Given the description of an element on the screen output the (x, y) to click on. 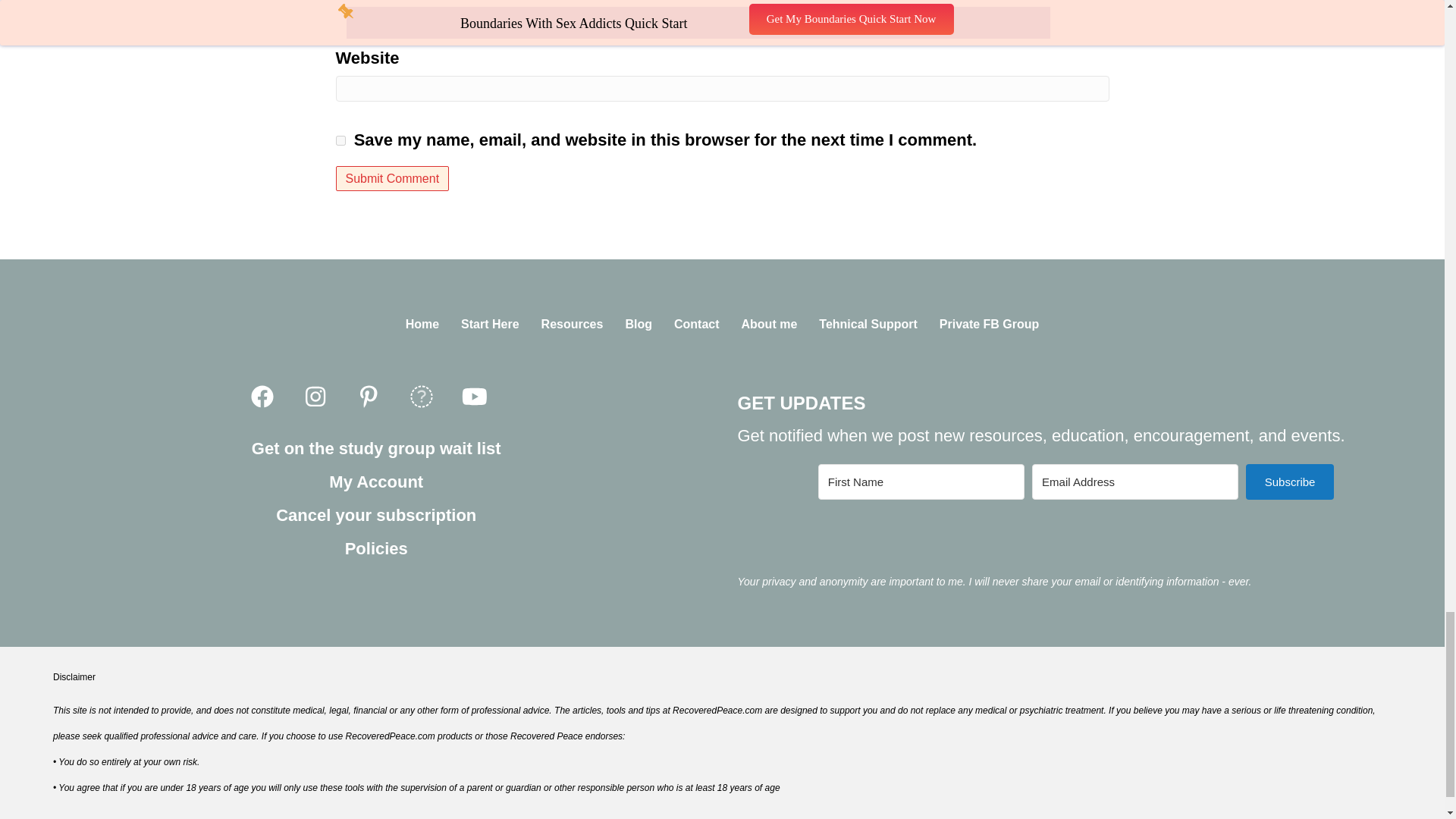
YouTube (474, 397)
Submit Comment (391, 178)
Facebook (262, 397)
Tehnical Support (867, 324)
Resources (572, 324)
Home (421, 324)
Pinterest (368, 397)
About me (769, 324)
Twitter (421, 397)
Instagram (314, 397)
Submit Comment (391, 178)
yes (339, 140)
Start Here (489, 324)
Blog (638, 324)
Contact (696, 324)
